Given the description of an element on the screen output the (x, y) to click on. 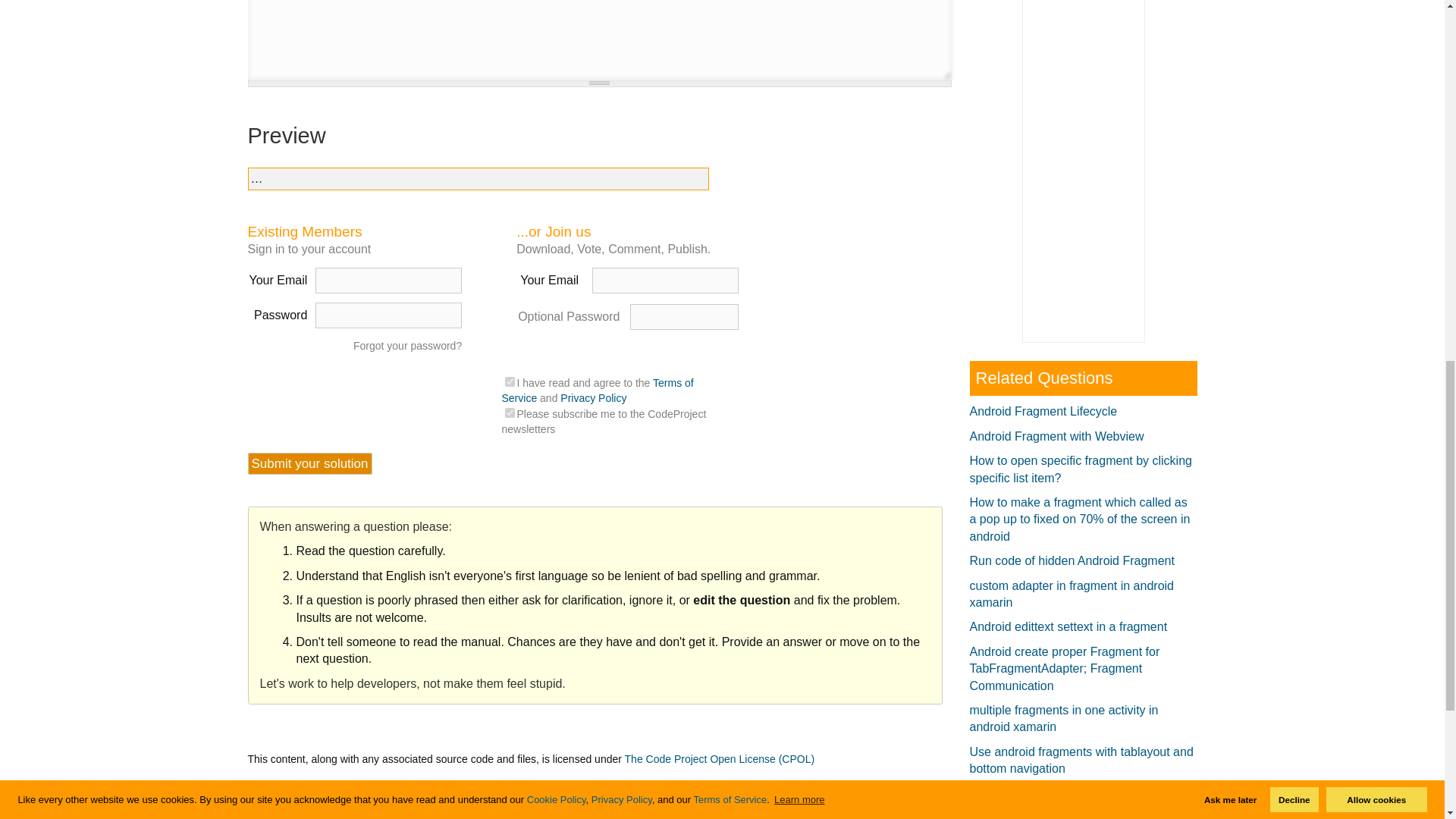
on (510, 381)
on (510, 412)
